Given the description of an element on the screen output the (x, y) to click on. 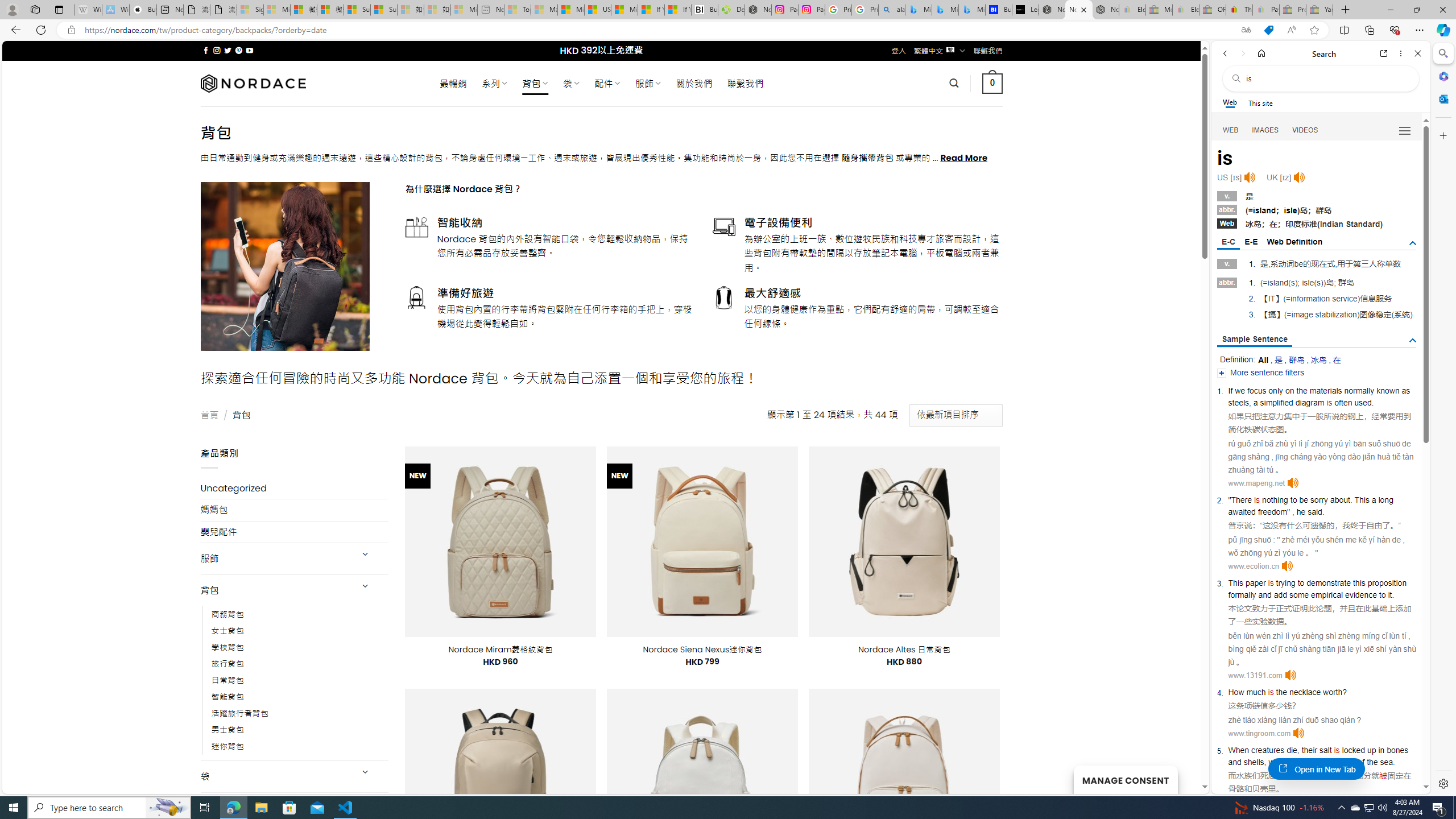
Marine life - MSN - Sleeping (543, 9)
proposition (1386, 582)
much (1256, 691)
evidence (1360, 594)
said (1314, 511)
www.mapeng.net (1256, 483)
